Given the description of an element on the screen output the (x, y) to click on. 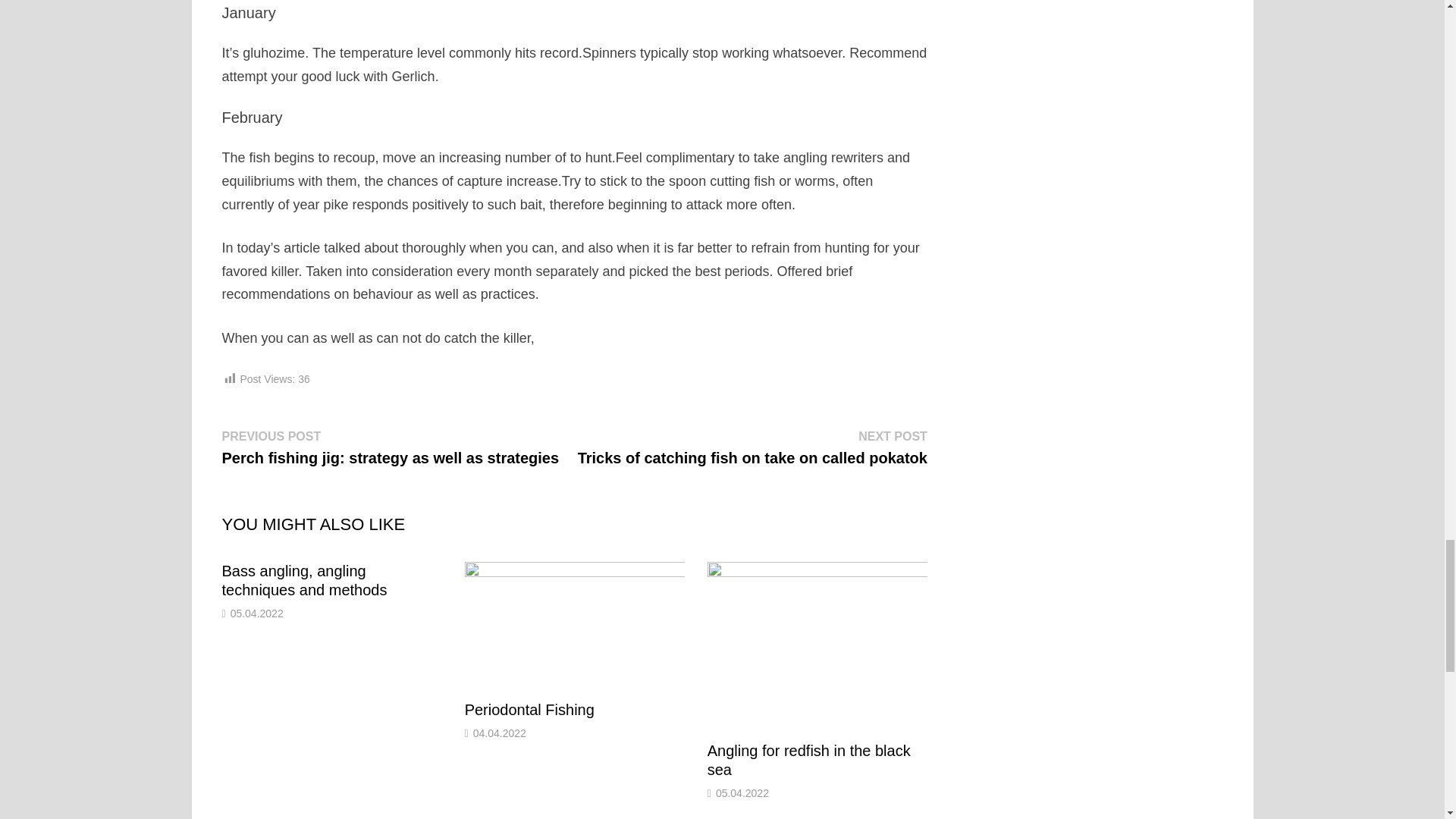
05.04.2022 (742, 793)
04.04.2022 (499, 733)
Periodontal Fishing (529, 709)
Angling for redfish in the black sea (809, 760)
Bass angling, angling techniques and methods (304, 580)
Bass angling, angling techniques and methods (304, 580)
Angling for redfish in the black sea (809, 760)
05.04.2022 (256, 613)
Periodontal Fishing (529, 709)
